Given the description of an element on the screen output the (x, y) to click on. 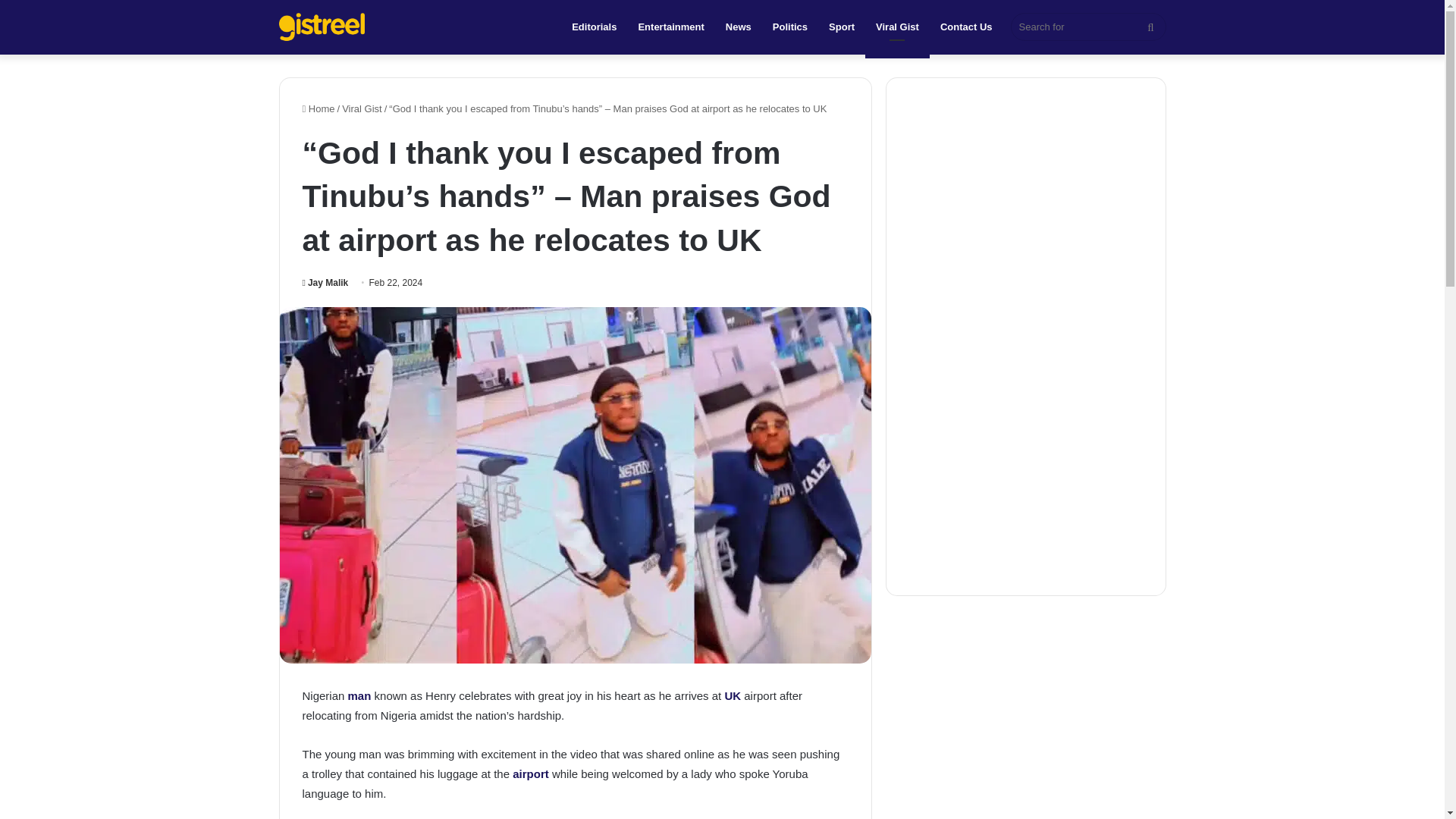
UK (733, 695)
Politics (789, 27)
Home (317, 108)
Search for (1088, 26)
Contact Us (966, 27)
man (360, 695)
airport (530, 773)
Entertainment (670, 27)
Jay Malik (324, 282)
Viral Gist (897, 27)
GistReel Entertainment (322, 26)
Editorials (593, 27)
Jay Malik (324, 282)
Viral Gist (361, 108)
